Given the description of an element on the screen output the (x, y) to click on. 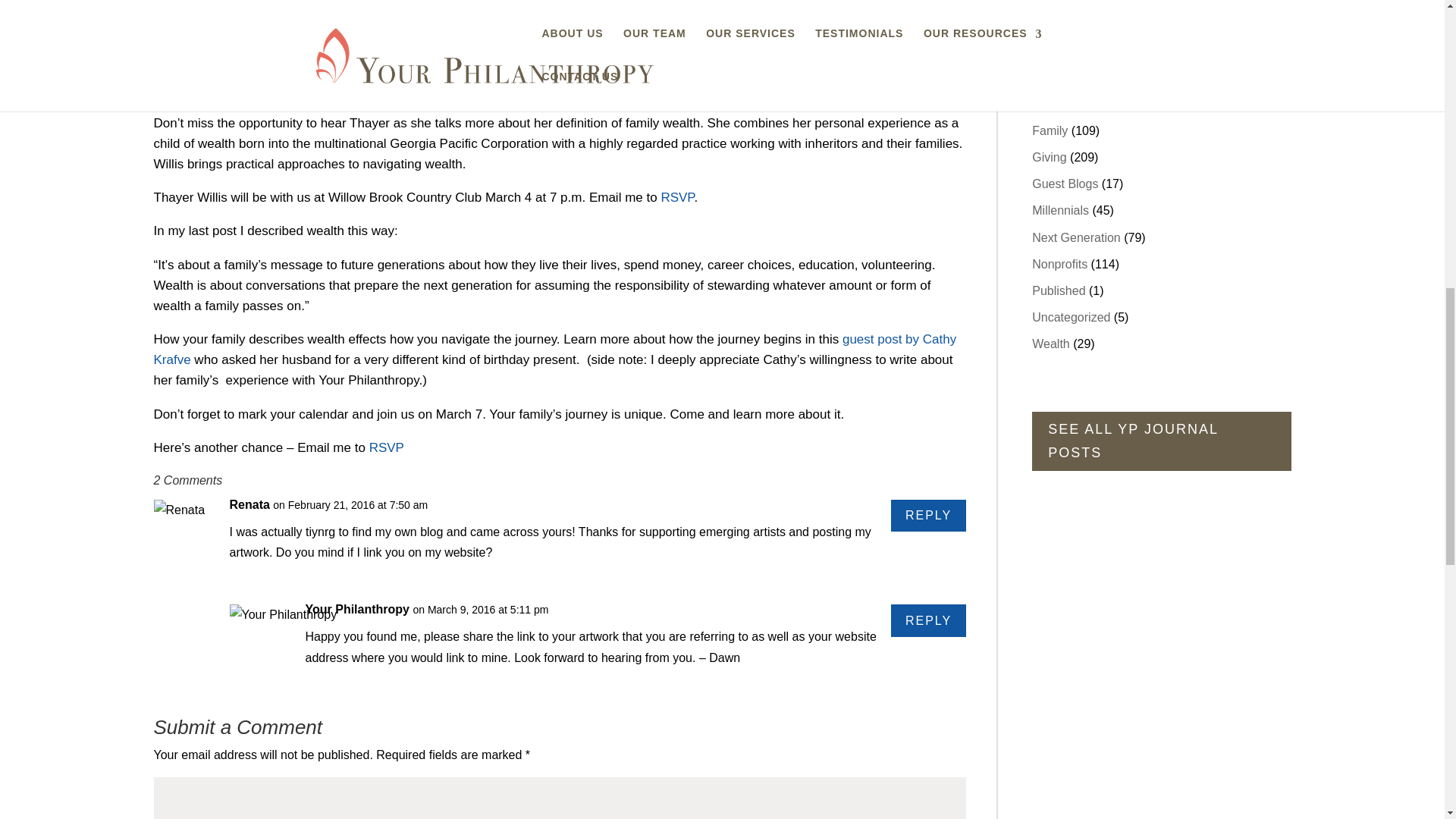
REPLY (928, 515)
Renata (248, 504)
RSVP (677, 197)
REPLY (928, 620)
RSVP (386, 447)
guest post by Cathy Krafve (554, 349)
